Given the description of an element on the screen output the (x, y) to click on. 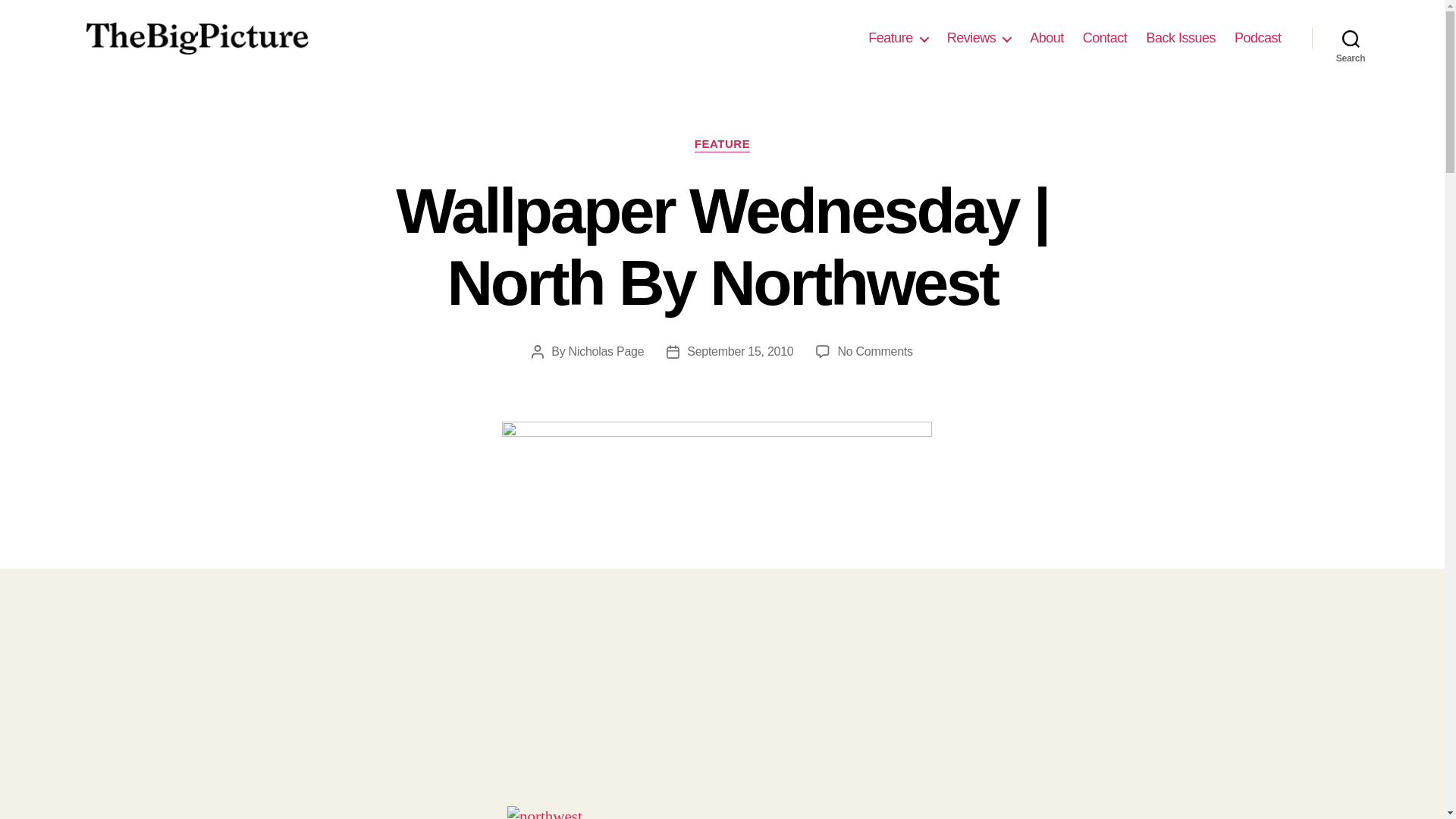
Search (1350, 37)
Back Issues (1180, 38)
Podcast (1257, 38)
Reviews (979, 38)
Contact (1104, 38)
About (1046, 38)
Feature (897, 38)
